Given the description of an element on the screen output the (x, y) to click on. 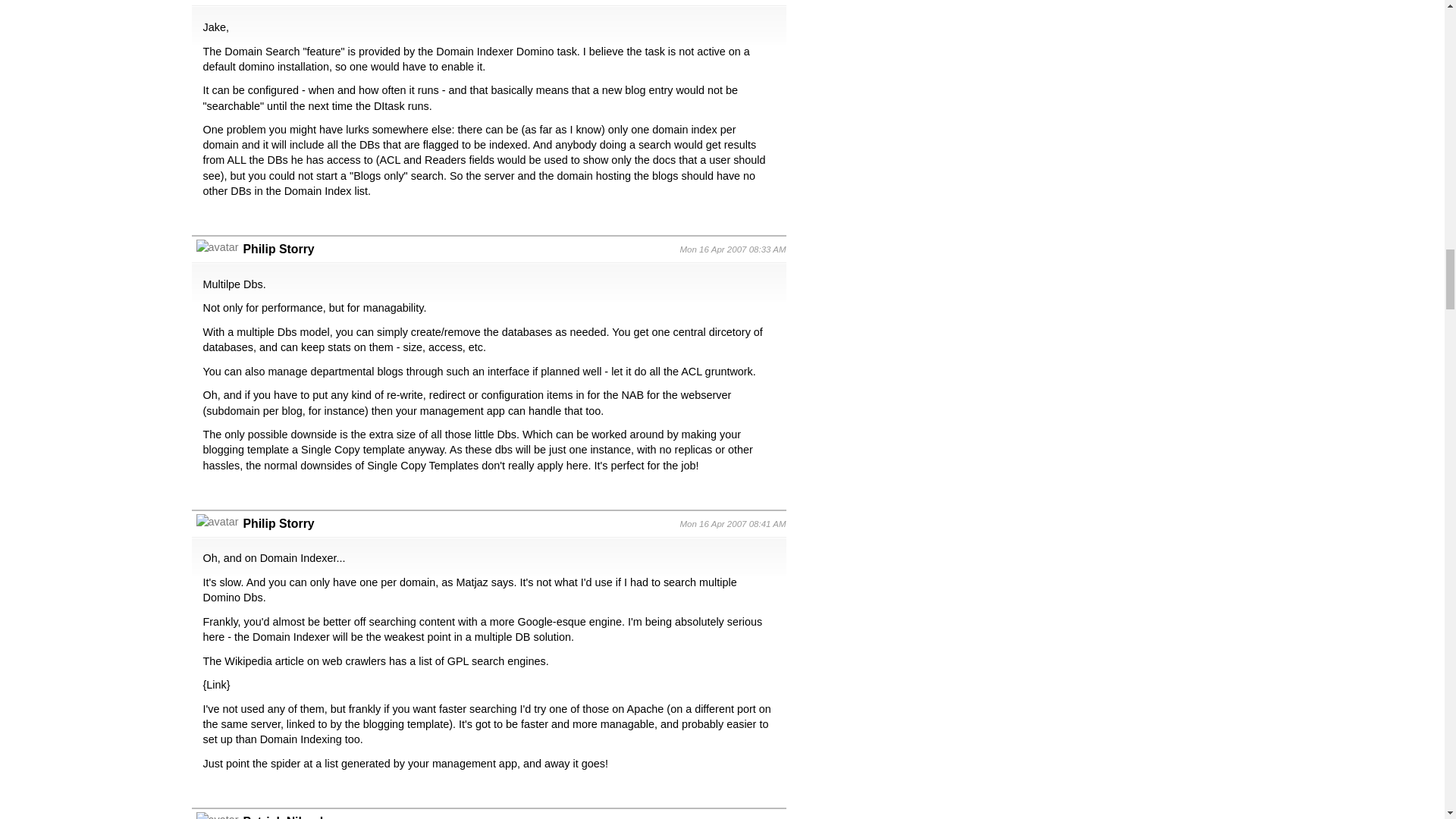
Philip Storry (278, 248)
Patrick Niland (283, 816)
Link (215, 684)
Philip Storry (278, 522)
Click to Email (283, 816)
